Given the description of an element on the screen output the (x, y) to click on. 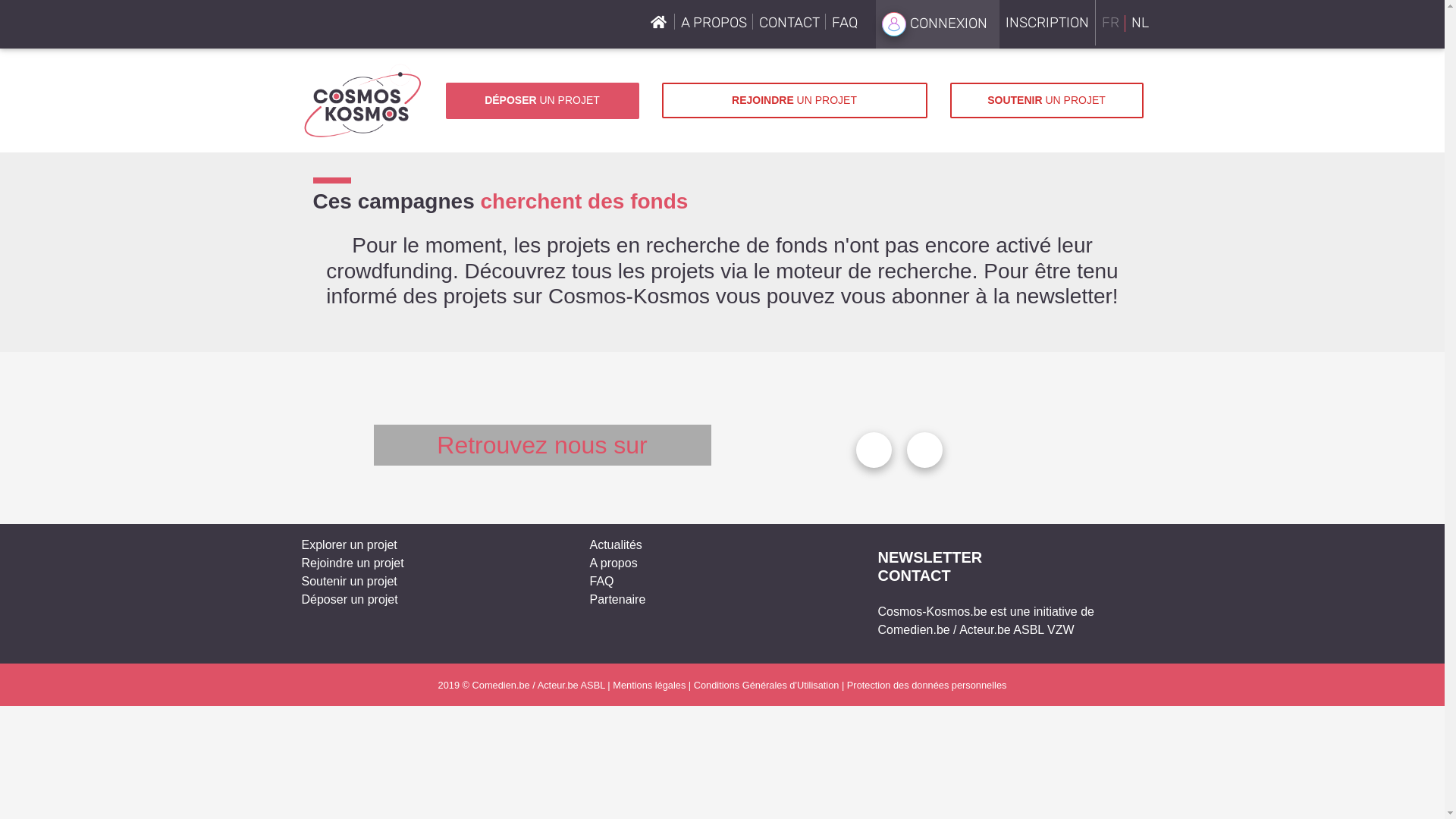
Cosmos-Kosmos.be Element type: text (932, 611)
A propos Element type: text (613, 562)
CONNEXION Element type: text (936, 24)
REJOINDRE UN PROJET Element type: text (793, 100)
Rejoindre un projet Element type: text (352, 562)
Comedien.be / Acteur.be Element type: text (944, 629)
SOUTENIR UN PROJET Element type: text (1045, 100)
CONTACT Element type: text (914, 575)
NEWSLETTER Element type: text (930, 557)
Partenaire Element type: text (617, 599)
NL Element type: text (1139, 24)
Soutenir un projet Element type: text (349, 580)
CONTACT Element type: text (788, 22)
Explorer un projet Element type: text (349, 544)
FAQ Element type: text (601, 580)
A PROPOS Element type: text (713, 22)
INSCRIPTION Element type: text (1047, 22)
FR Element type: text (1109, 24)
FAQ Element type: text (843, 22)
